Given the description of an element on the screen output the (x, y) to click on. 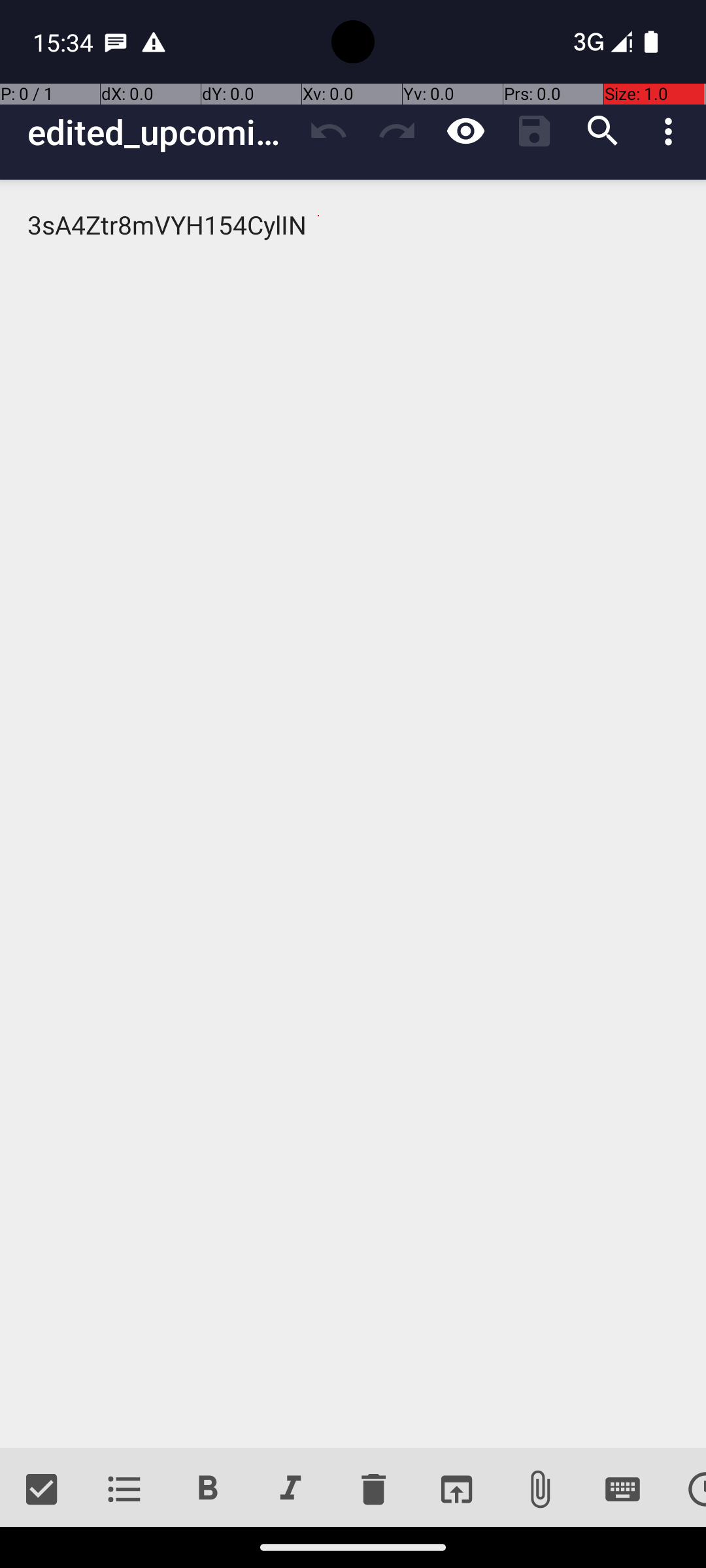
edited_upcoming_presentation_outline Element type: android.widget.TextView (160, 131)
3sA4Ztr8mVYH154CylIN
 Element type: android.widget.EditText (353, 813)
